Given the description of an element on the screen output the (x, y) to click on. 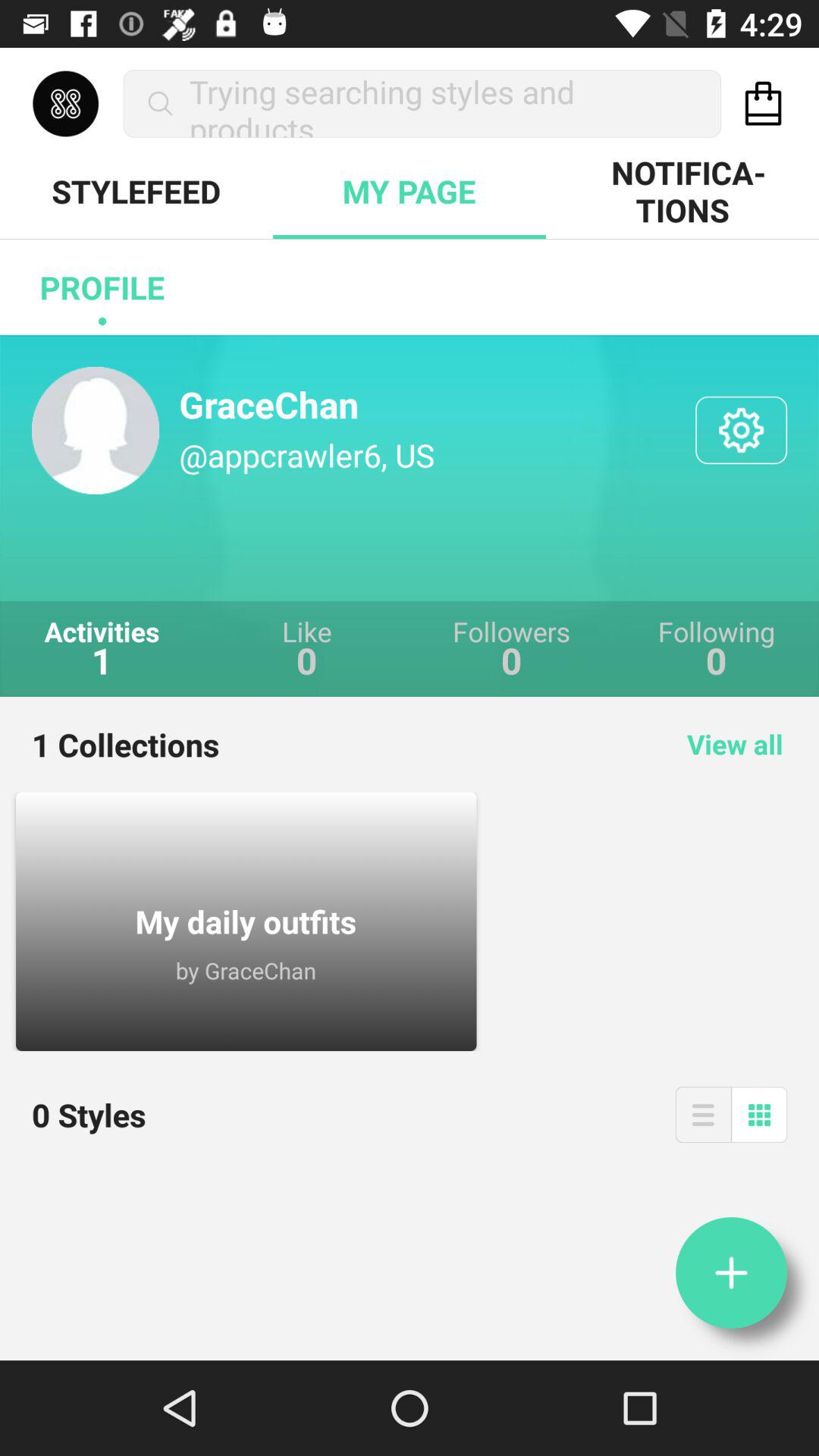
open item next to the @appcrawler6, us (741, 430)
